Given the description of an element on the screen output the (x, y) to click on. 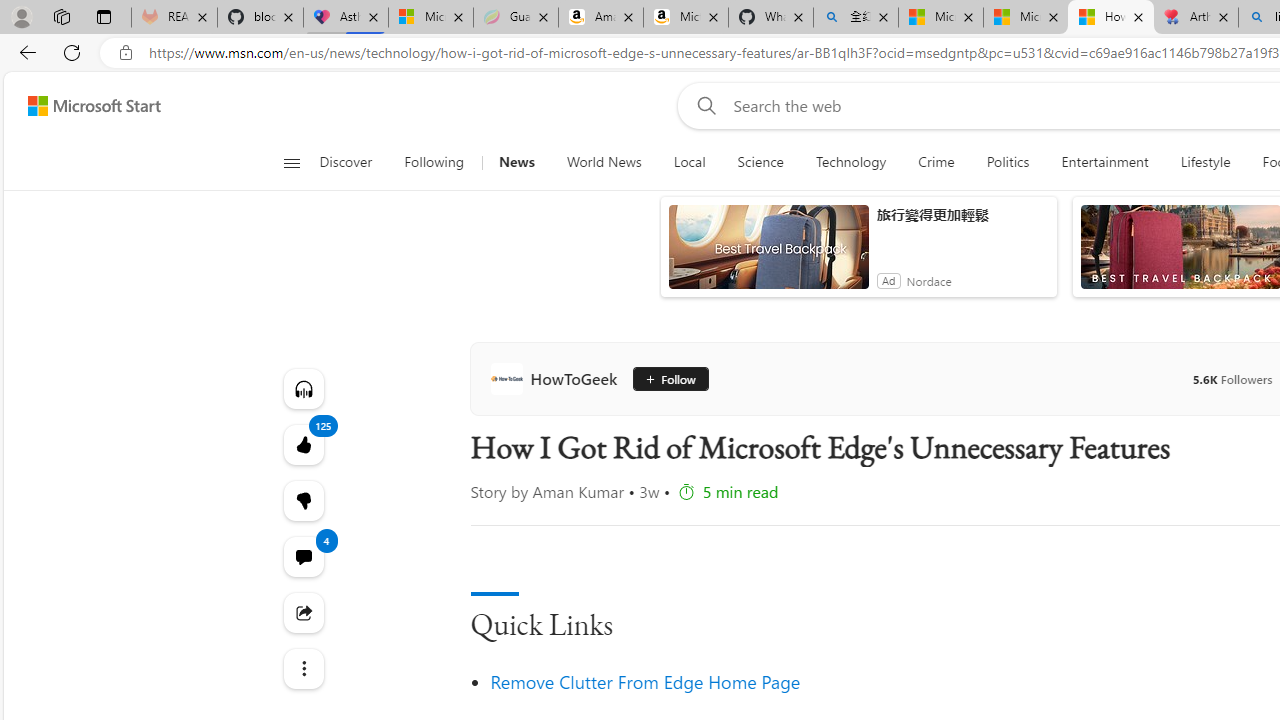
Local (689, 162)
Share this story (302, 612)
Entertainment (1104, 162)
Entertainment (1105, 162)
Tab actions menu (104, 16)
World News (603, 162)
Microsoft Start (94, 105)
Microsoft Start (1025, 17)
Dislike (302, 500)
Workspaces (61, 16)
Local (688, 162)
Discover (353, 162)
